Given the description of an element on the screen output the (x, y) to click on. 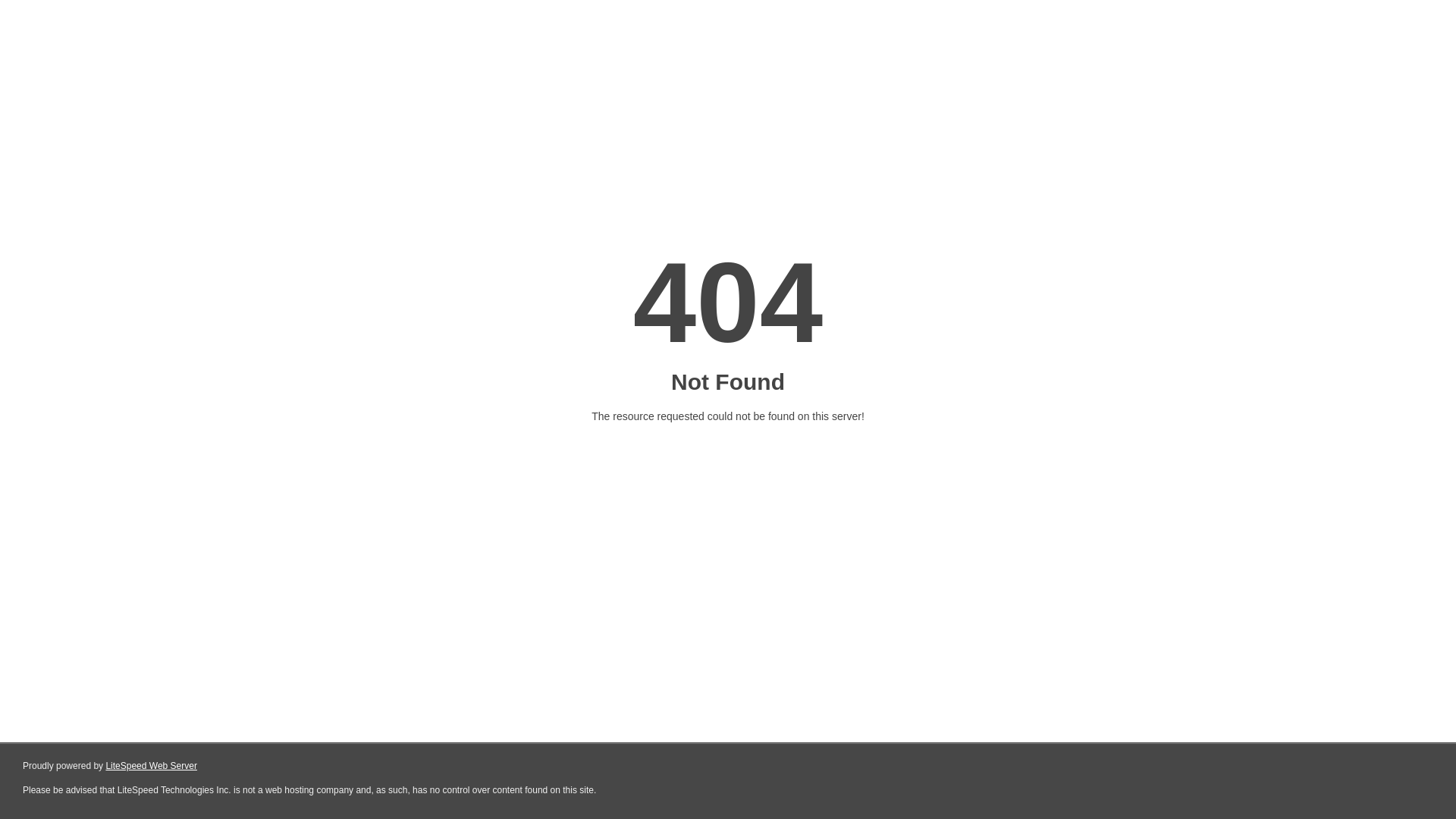
LiteSpeed Web Server Element type: text (151, 765)
